Given the description of an element on the screen output the (x, y) to click on. 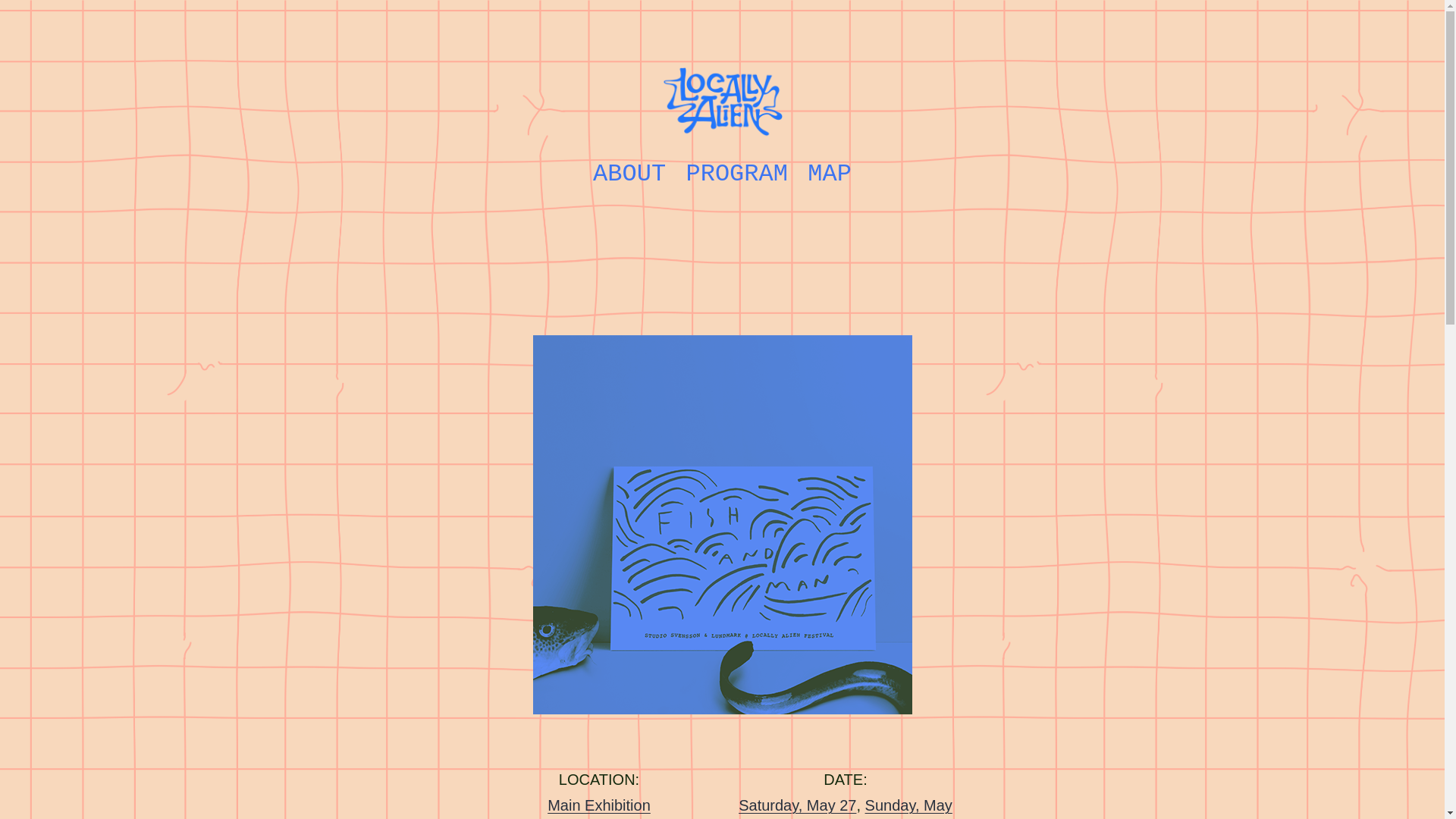
ABOUT (629, 174)
Saturday, May 27 (797, 805)
Main Exhibition (598, 805)
Sunday, May 28 (894, 807)
MAP (829, 174)
PROGRAM (736, 174)
